Given the description of an element on the screen output the (x, y) to click on. 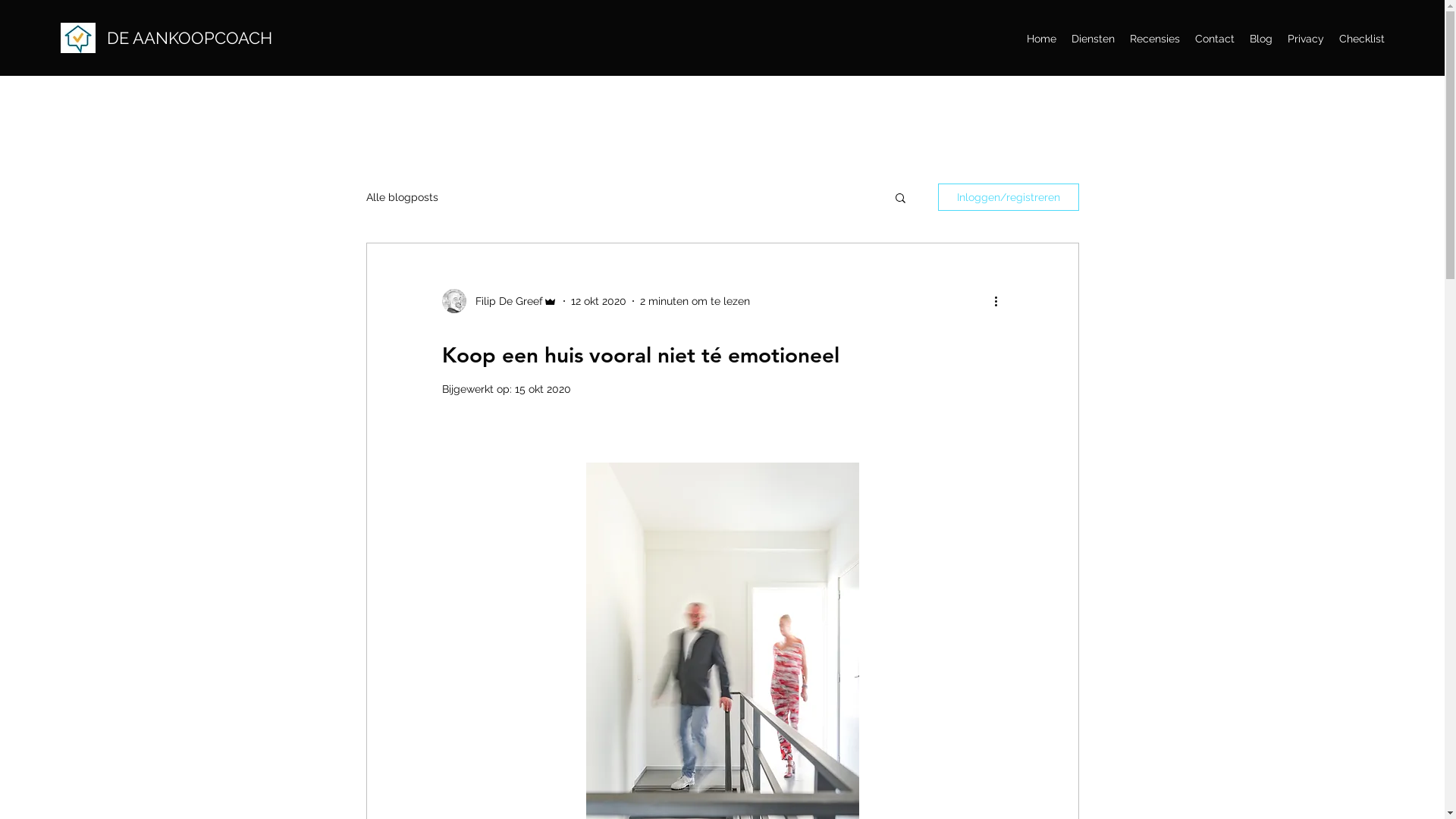
Checklist Element type: text (1361, 38)
Inloggen/registreren Element type: text (1007, 196)
DE AANKOOPCOACH Element type: text (189, 37)
Alle blogposts Element type: text (401, 197)
Home Element type: text (1041, 38)
Privacy Element type: text (1305, 38)
Recensies Element type: text (1154, 38)
Contact Element type: text (1214, 38)
Blog Element type: text (1261, 38)
Diensten Element type: text (1092, 38)
